Given the description of an element on the screen output the (x, y) to click on. 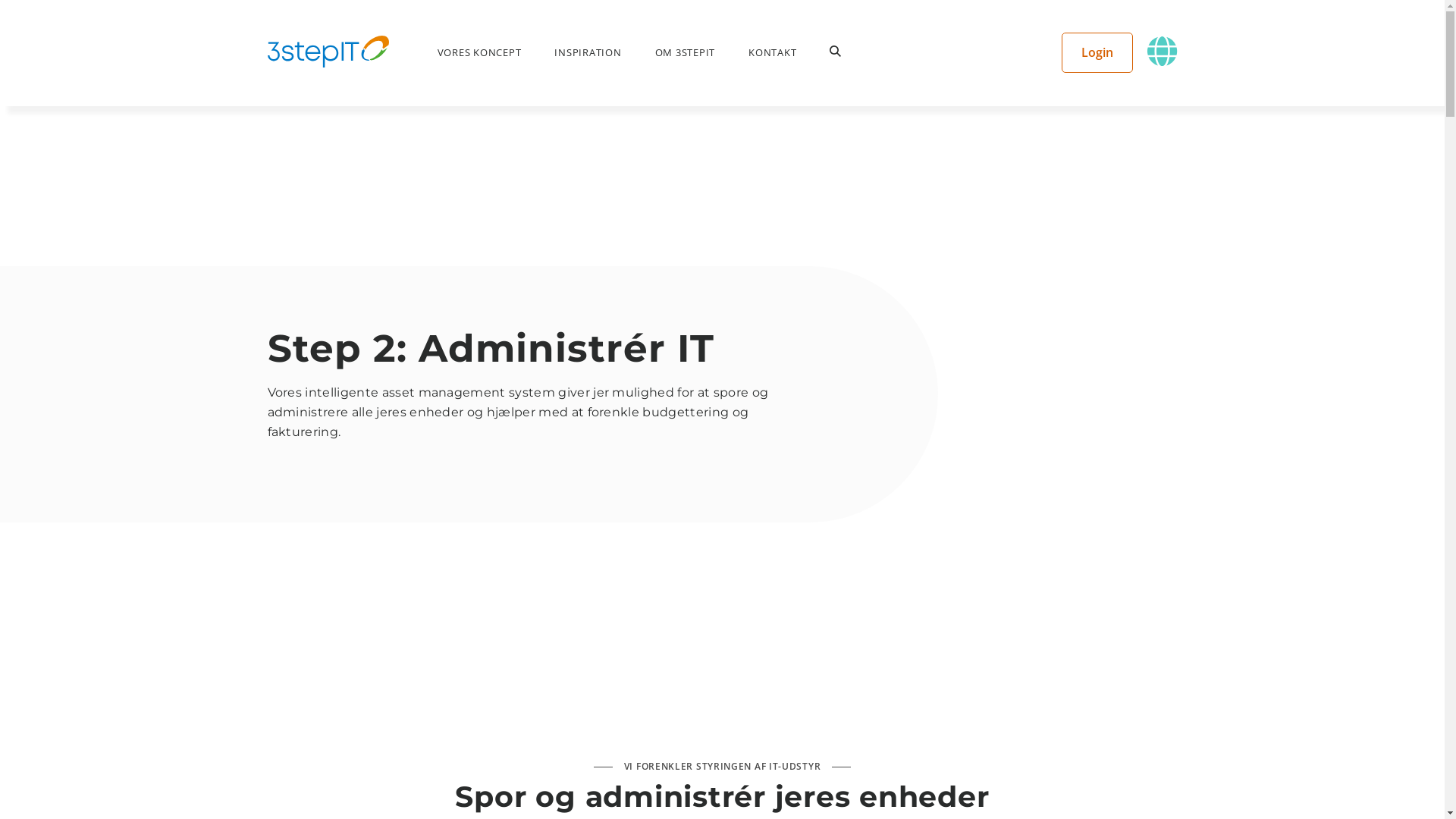
KONTAKT Element type: text (772, 52)
Login Element type: text (1096, 52)
INSPIRATION Element type: text (587, 52)
OM 3STEPIT Element type: text (685, 52)
VORES KONCEPT Element type: text (478, 52)
